Given the description of an element on the screen output the (x, y) to click on. 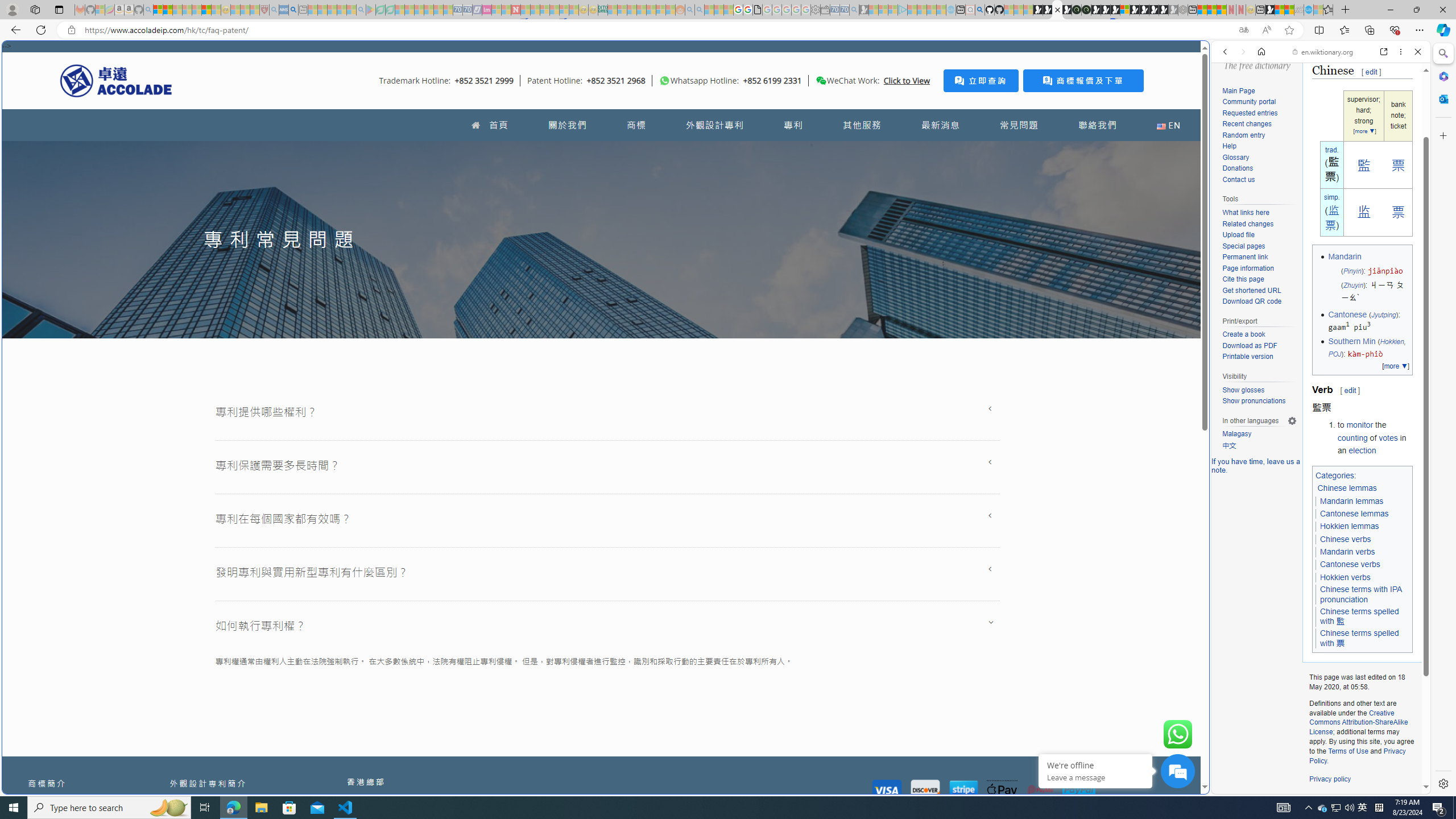
Community portal (1259, 102)
Wallet - Sleeping (824, 9)
Cantonese lemmas (1354, 513)
Home | Sky Blue Bikes - Sky Blue Bikes (1118, 242)
counting (1351, 437)
Create a book (1259, 334)
